Given the description of an element on the screen output the (x, y) to click on. 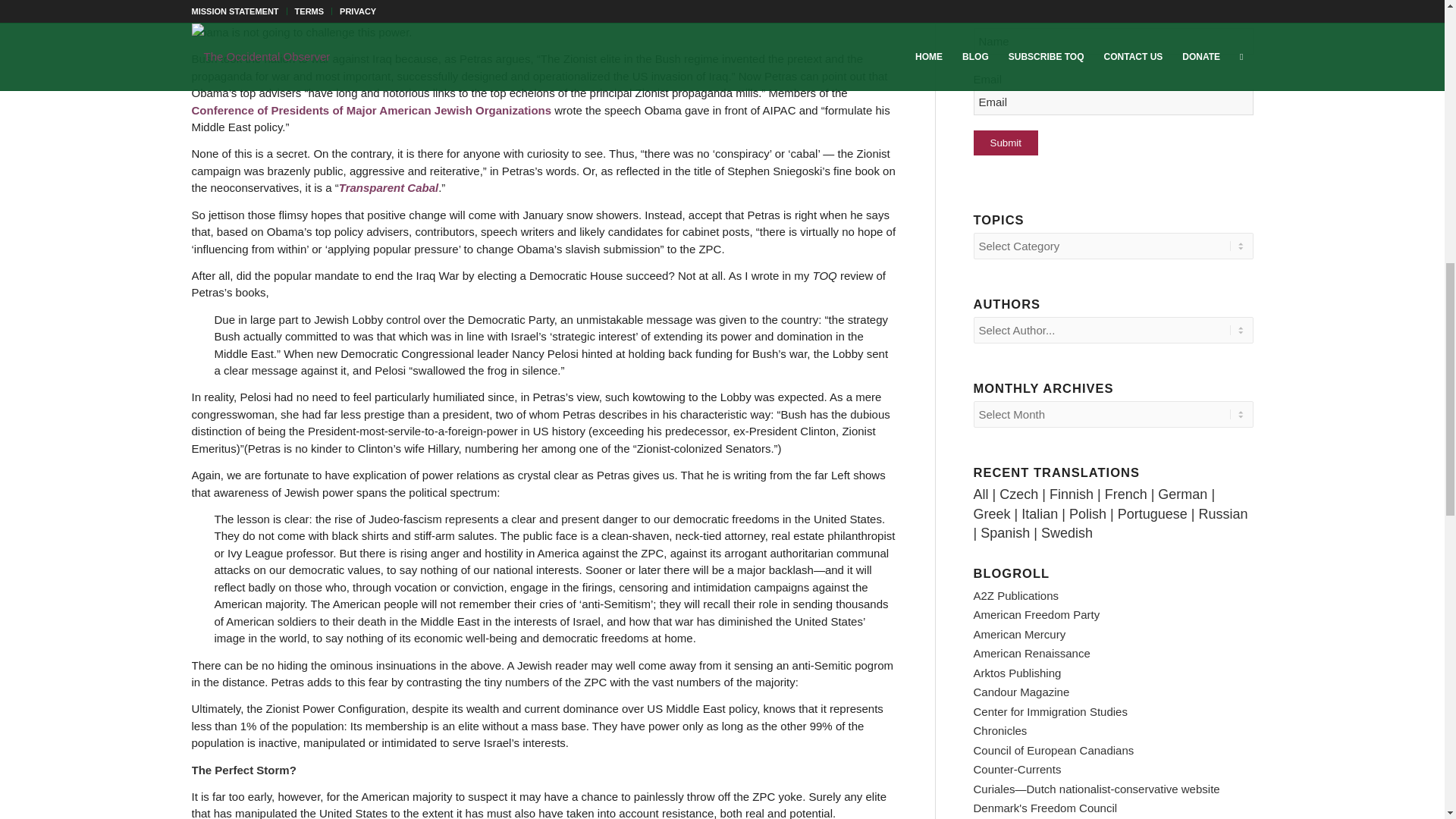
Submit (1006, 142)
Transparent Cabal (388, 187)
